Given the description of an element on the screen output the (x, y) to click on. 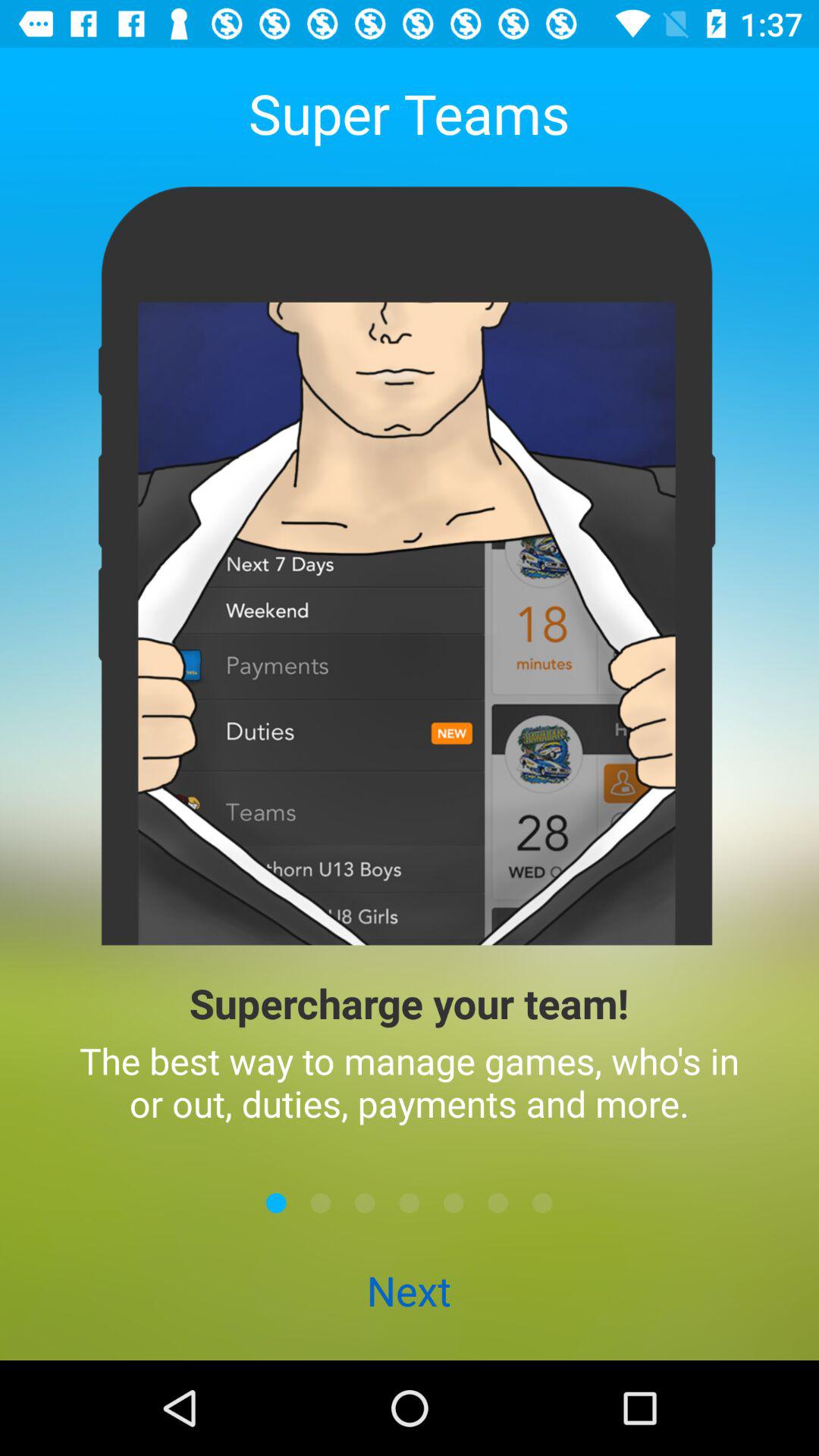
select next item (364, 1203)
